Given the description of an element on the screen output the (x, y) to click on. 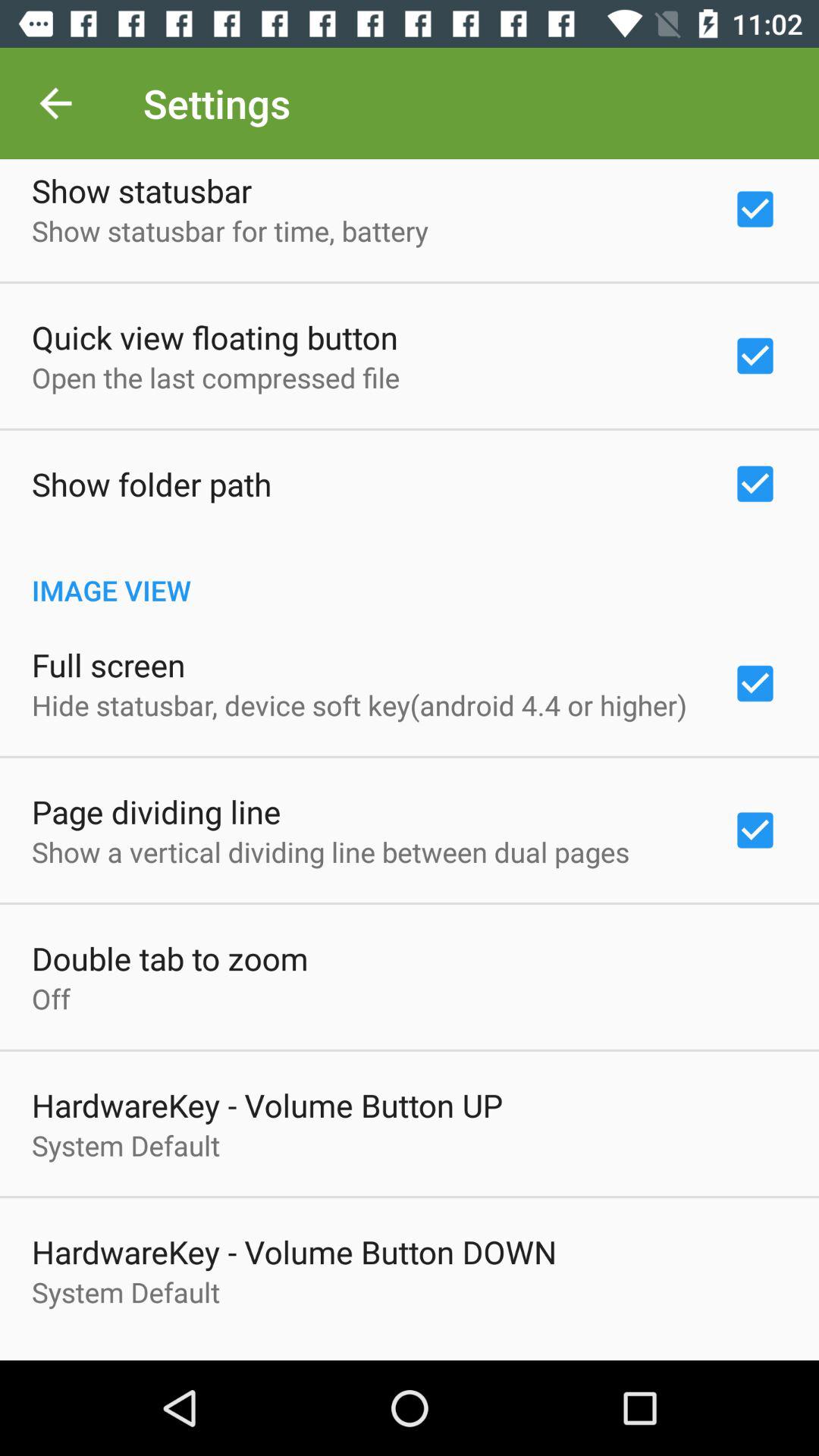
open the item to the left of the settings item (55, 103)
